Given the description of an element on the screen output the (x, y) to click on. 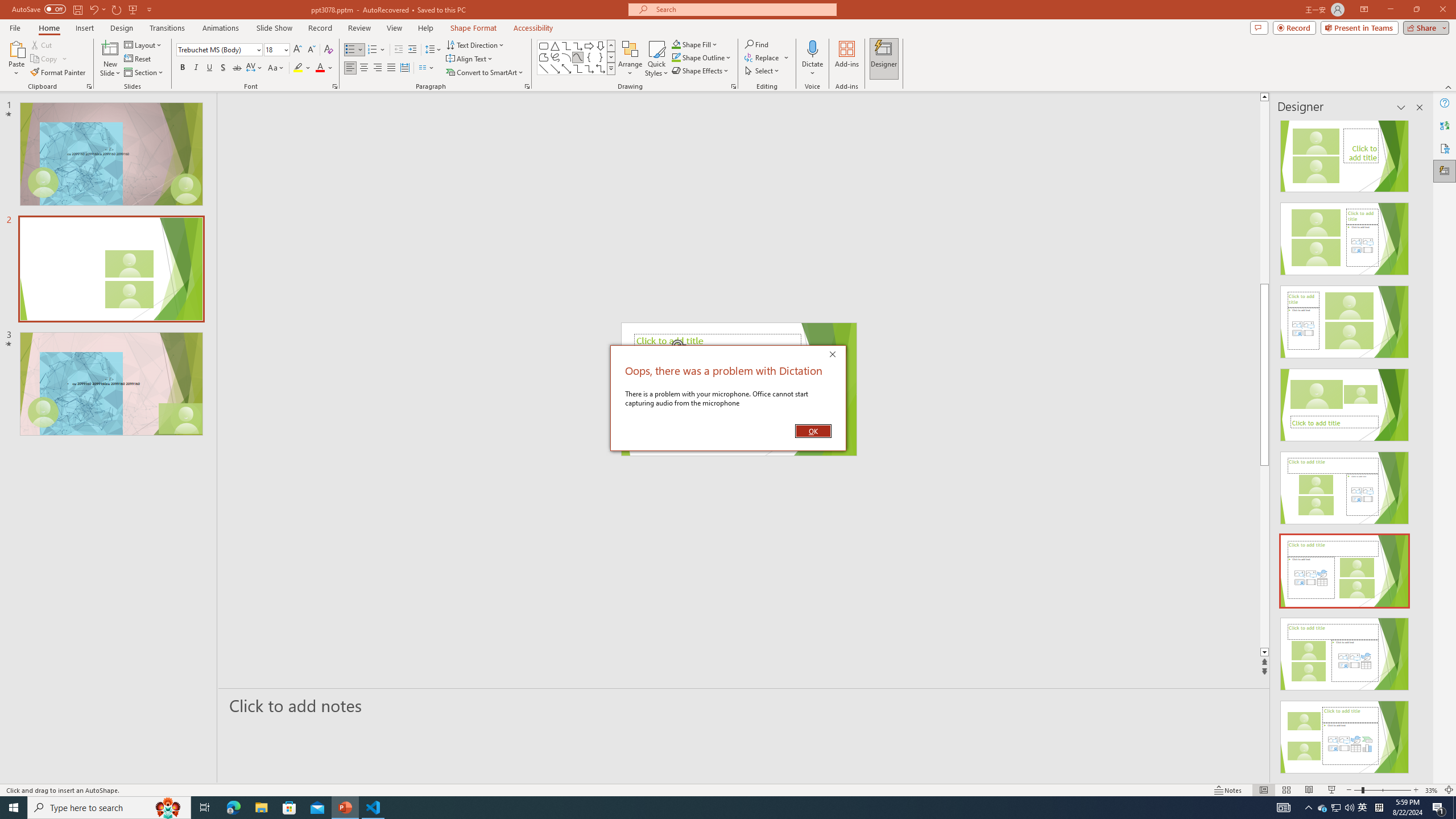
Zoom 33% (1431, 790)
